Given the description of an element on the screen output the (x, y) to click on. 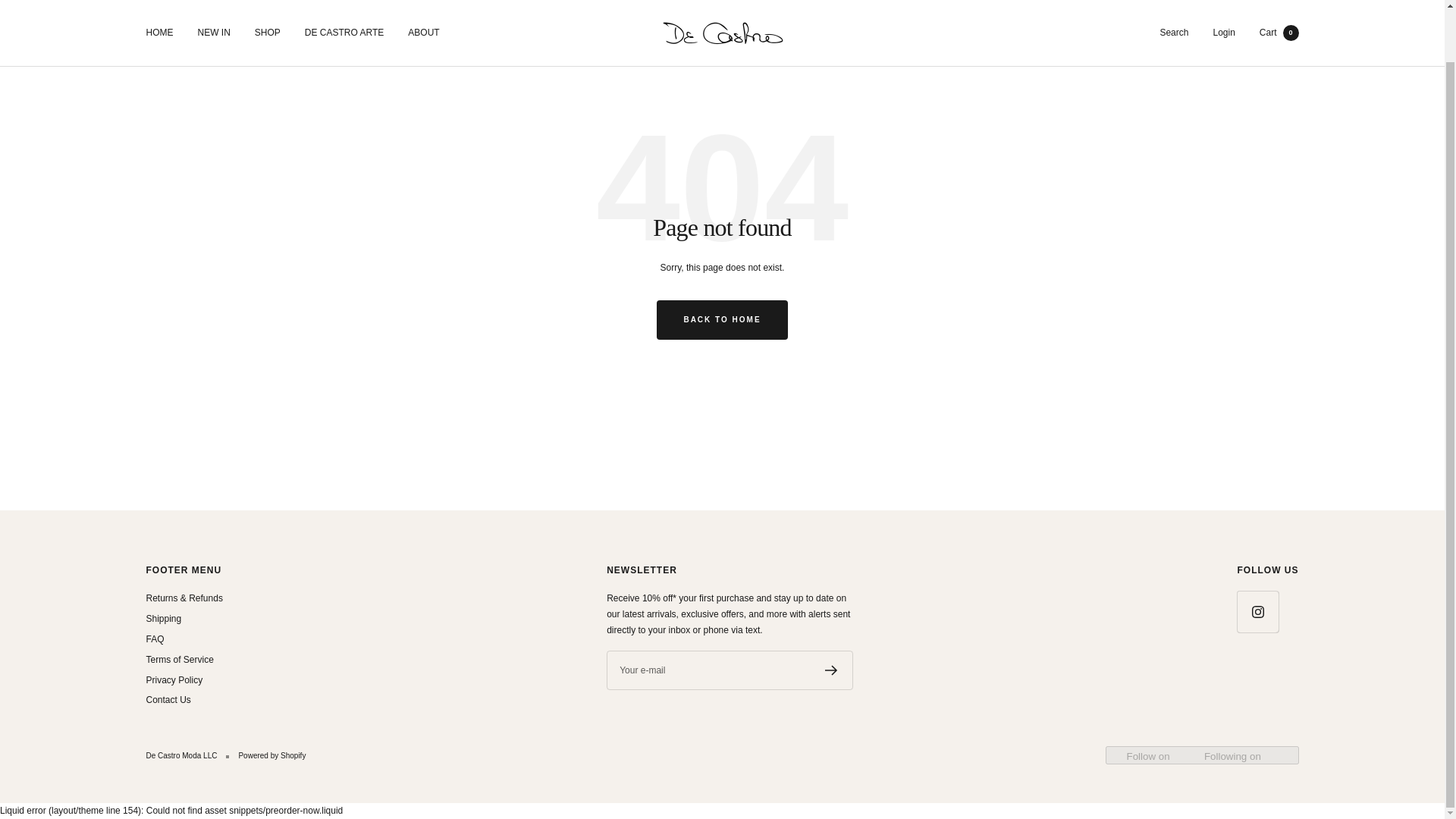
NEW IN (1278, 9)
Search (213, 10)
FAQ (1173, 9)
DE CASTRO ARTE (154, 639)
De Castro Moda LLC (344, 10)
HOME (722, 11)
Login (159, 10)
Register (1223, 9)
ABOUT (831, 670)
